Given the description of an element on the screen output the (x, y) to click on. 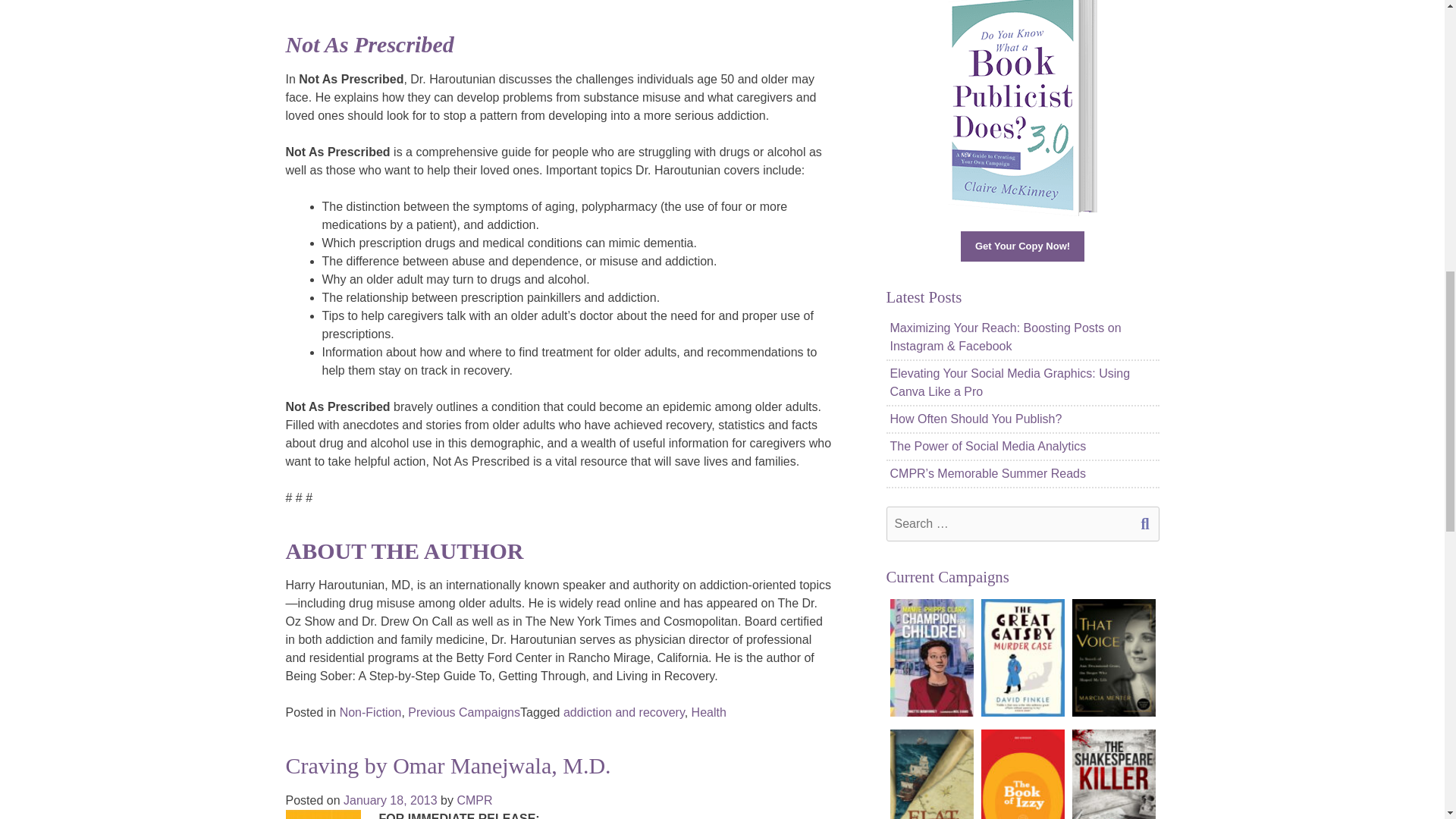
Craving by Omar Manejwala, M.D. (447, 765)
addiction and recovery (623, 712)
January 18, 2013 (390, 799)
CMPR (474, 799)
Health (708, 712)
Non-Fiction (370, 712)
Previous Campaigns (463, 712)
